Given the description of an element on the screen output the (x, y) to click on. 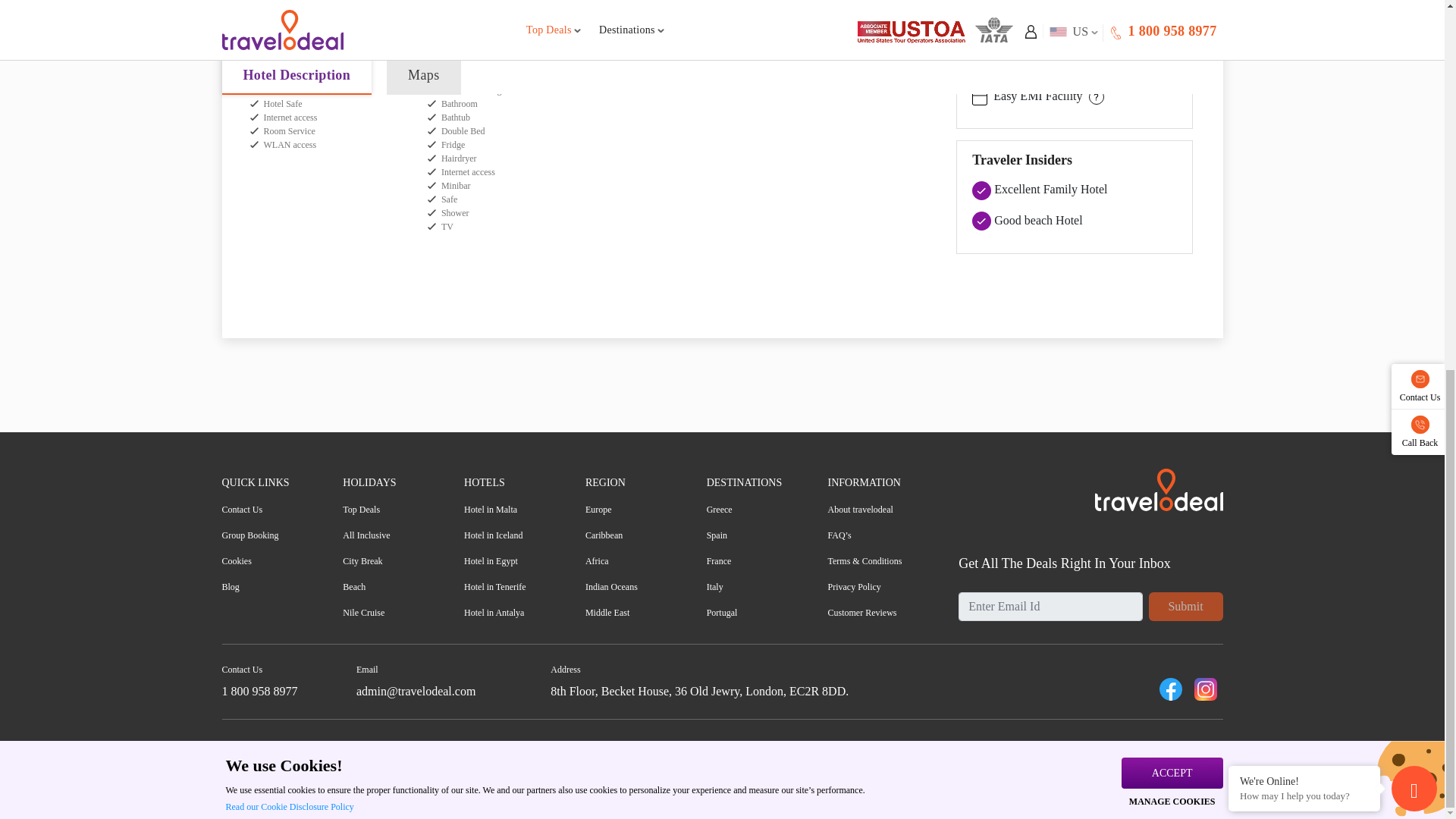
We're Online! (1304, 110)
How may I help you today? (1304, 124)
